Given the description of an element on the screen output the (x, y) to click on. 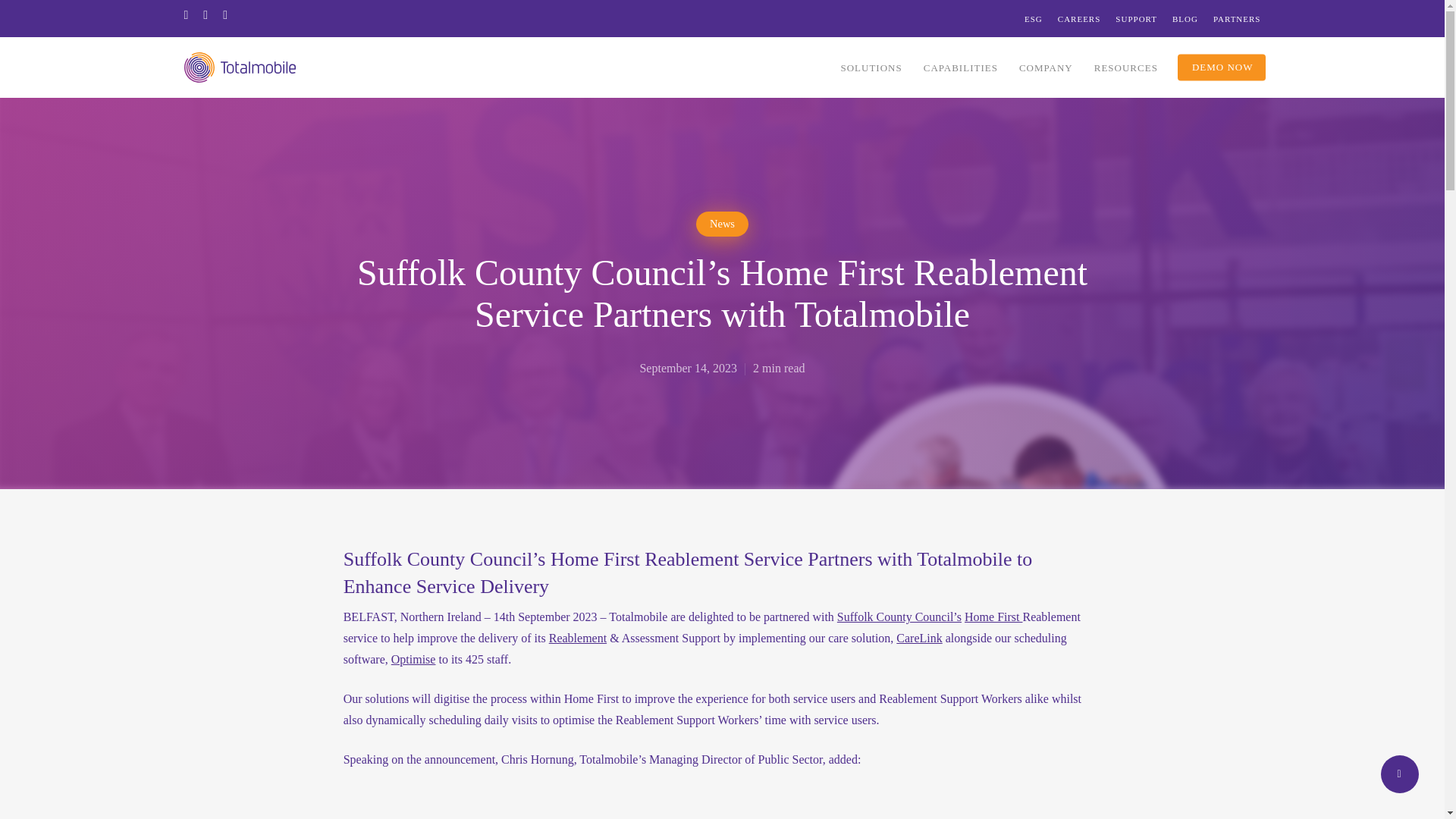
SUPPORT (1136, 18)
CAREERS (1079, 18)
PARTNERS (1236, 18)
SOLUTIONS (870, 67)
BLOG (1185, 18)
